Given the description of an element on the screen output the (x, y) to click on. 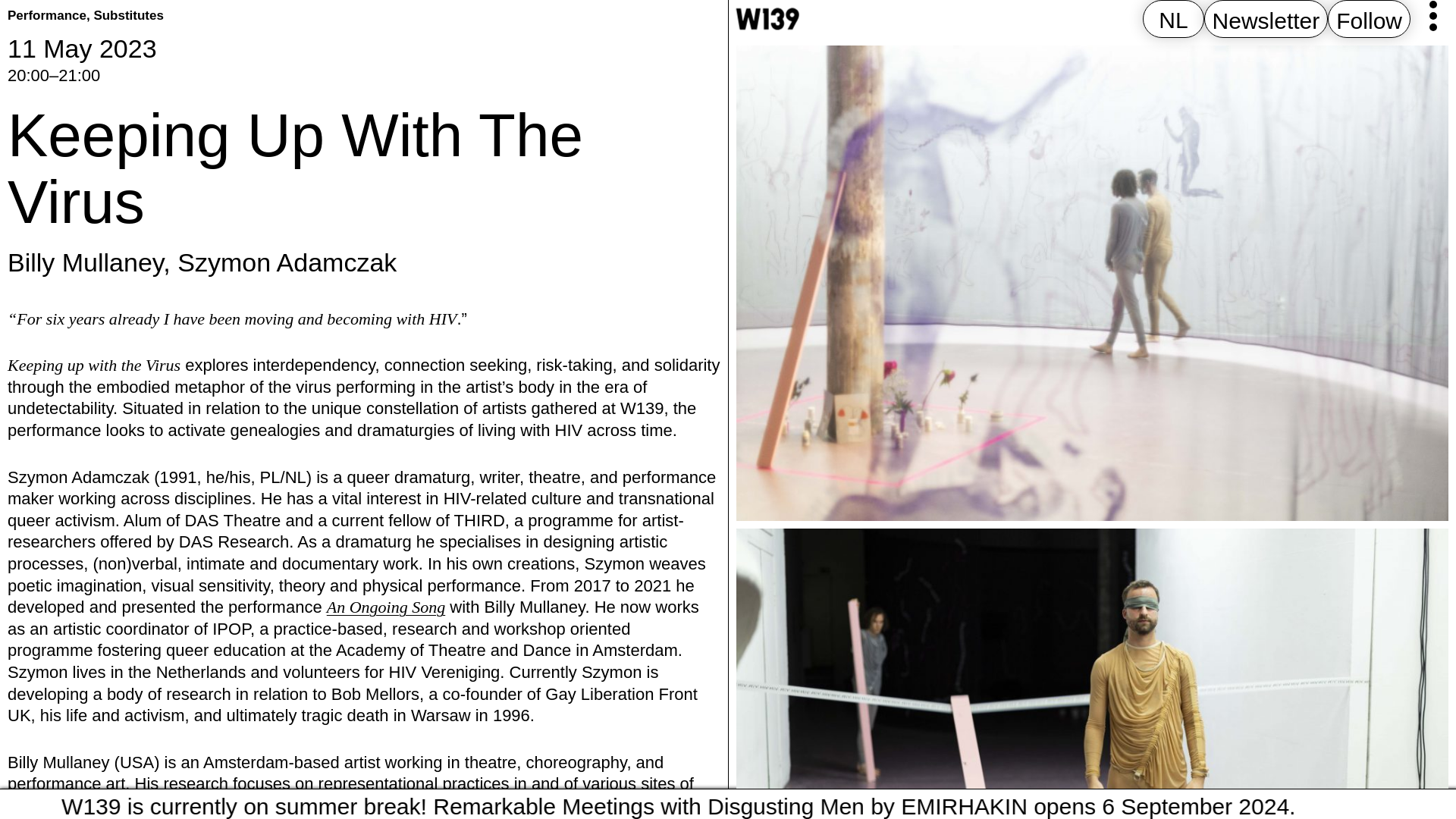
Billy Mullaney (85, 262)
An Ongoing Song (385, 606)
Follow (1369, 20)
NL (1173, 20)
Newsletter (1266, 20)
Primary Menu (1433, 15)
Szymon Adamczak (286, 262)
